Given the description of an element on the screen output the (x, y) to click on. 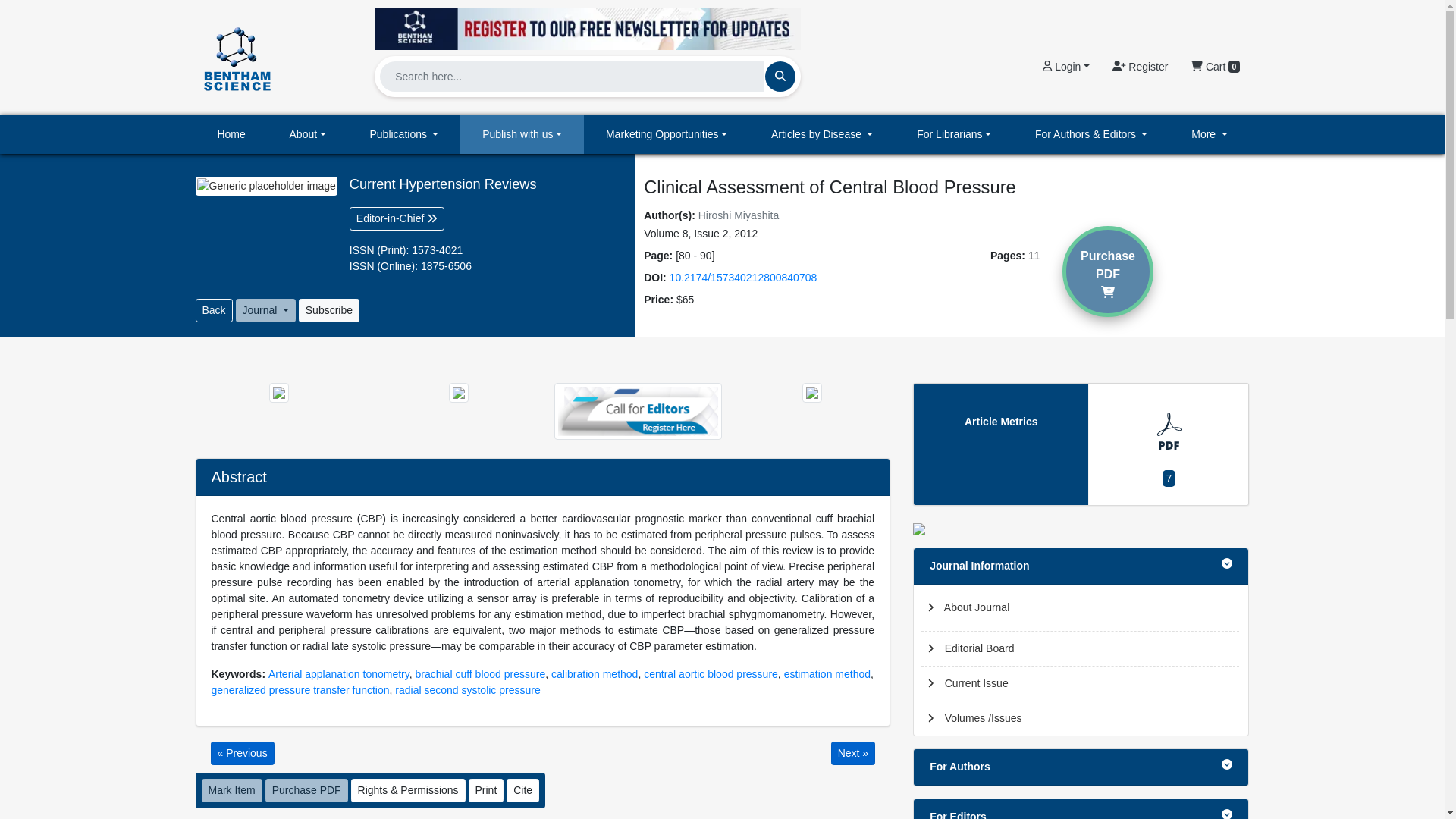
Publications (404, 134)
newsletter banner (587, 24)
Home (231, 134)
Search Button (779, 76)
Login (1065, 67)
Register (1139, 67)
newsletter banner (587, 28)
About (307, 134)
Cart 0 (1214, 67)
